Given the description of an element on the screen output the (x, y) to click on. 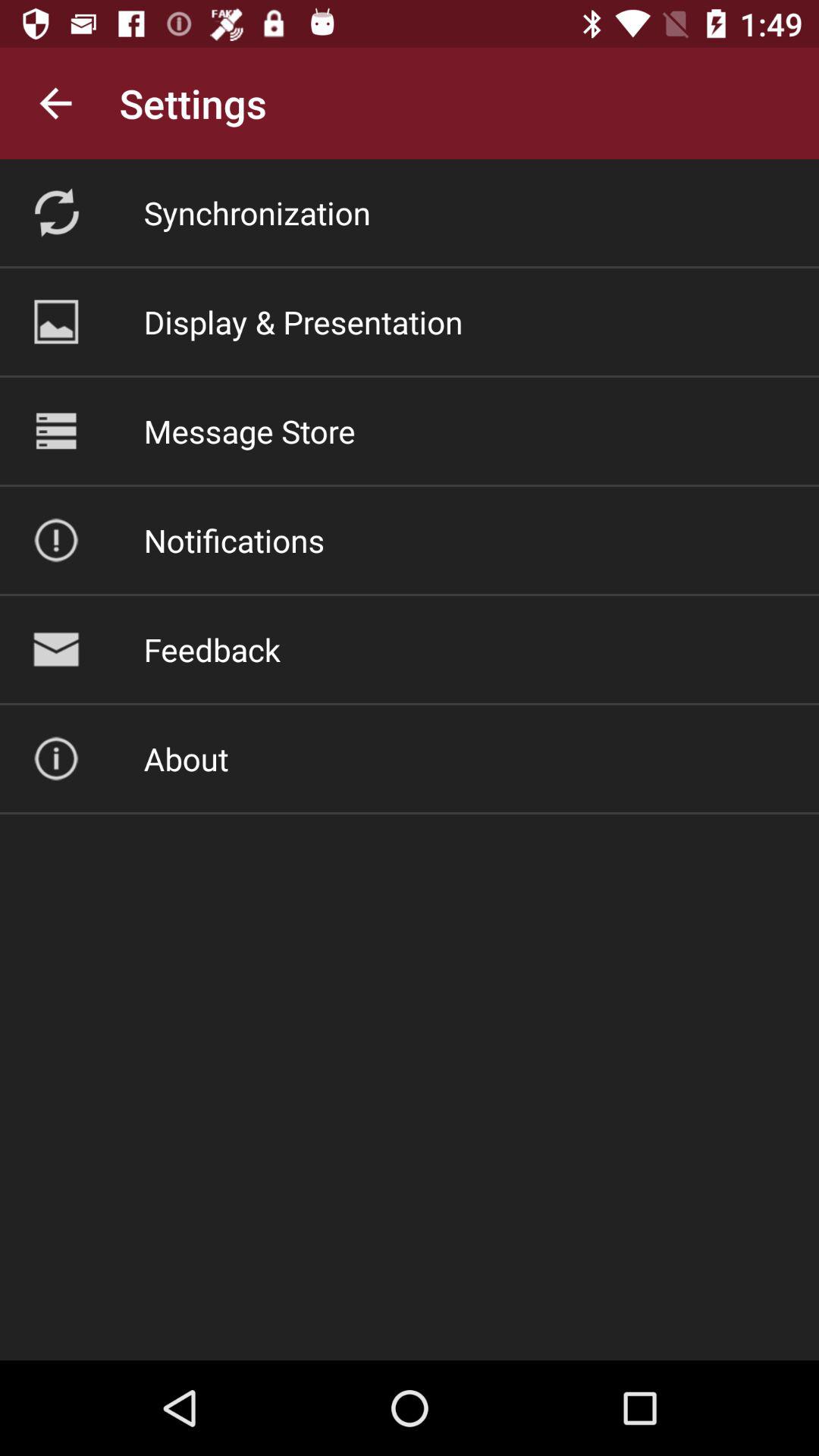
choose the item to the left of the settings icon (55, 103)
